Given the description of an element on the screen output the (x, y) to click on. 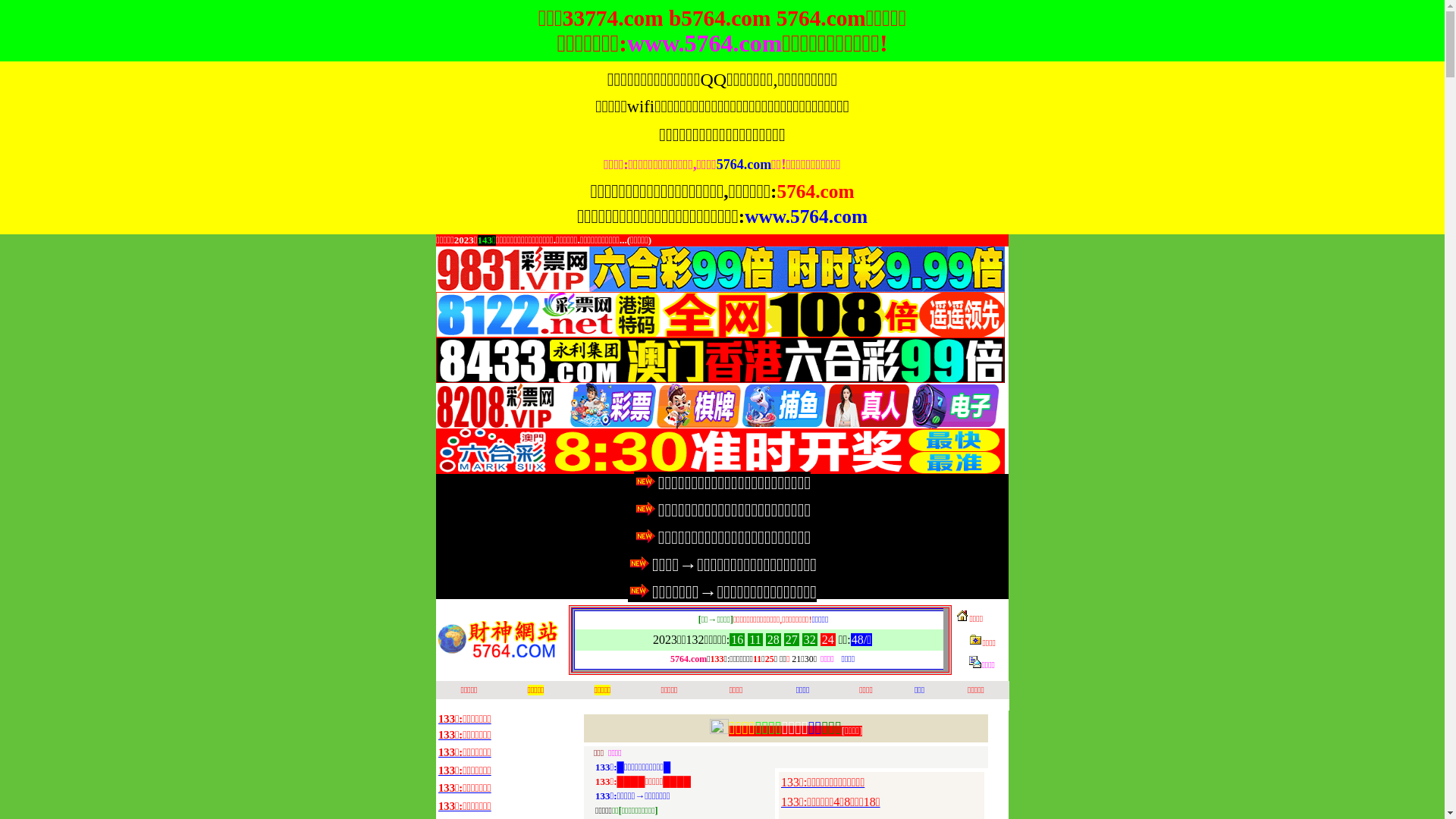
] Element type: text (860, 730)
